Given the description of an element on the screen output the (x, y) to click on. 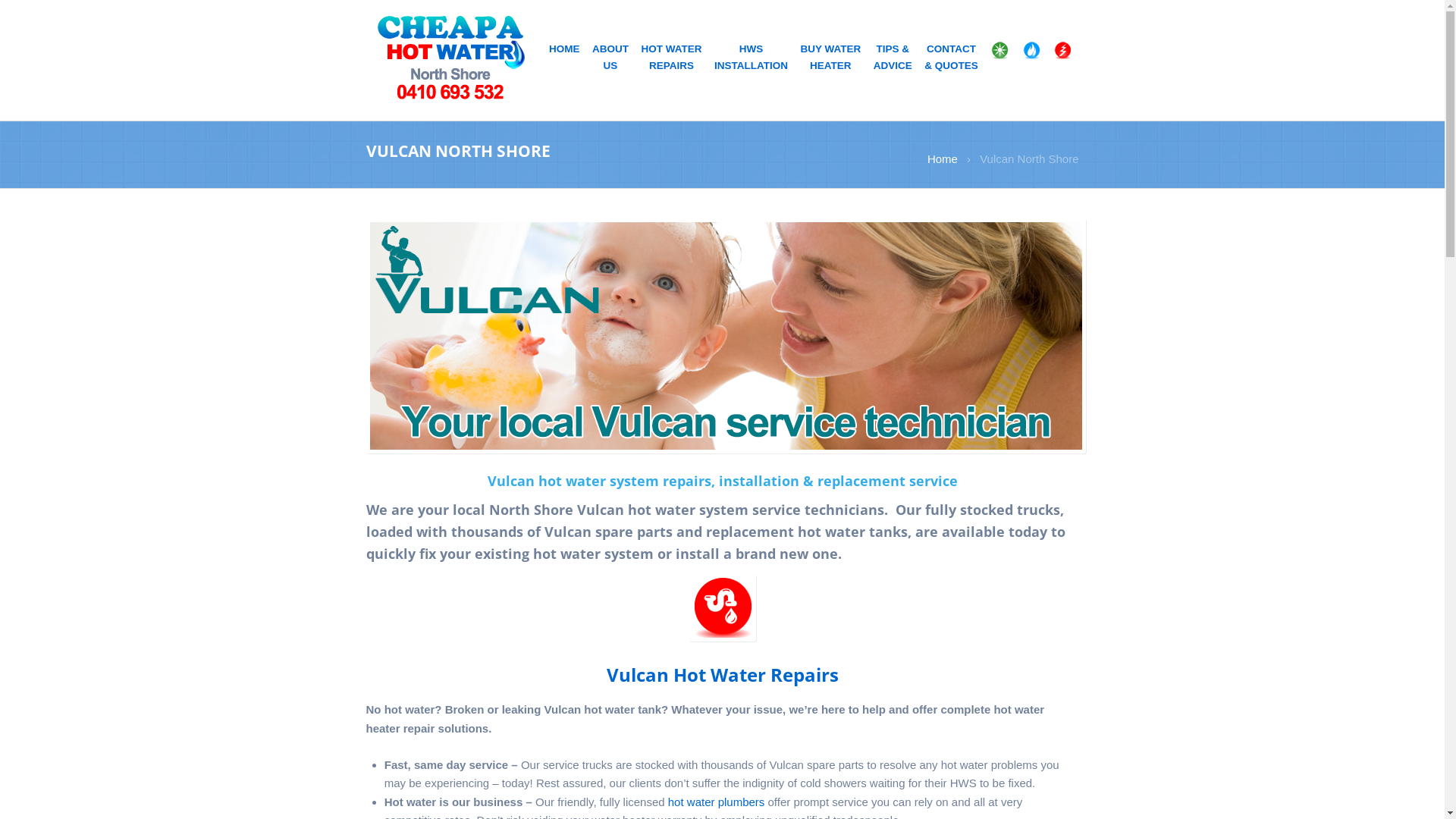
Hot water system repair and replacement service. Element type: hover (450, 56)
Home Element type: text (942, 158)
HOT WATER
REPAIRS Element type: text (671, 59)
CONTACT
& QUOTES Element type: text (950, 59)
TIPS &
ADVICE Element type: text (892, 59)
HWS
INSTALLATION Element type: text (751, 59)
ABOUT
US Element type: text (609, 59)
HOME Element type: text (563, 50)
hot water plumbers Element type: text (716, 801)
BUY WATER
HEATER Element type: text (830, 59)
